Given the description of an element on the screen output the (x, y) to click on. 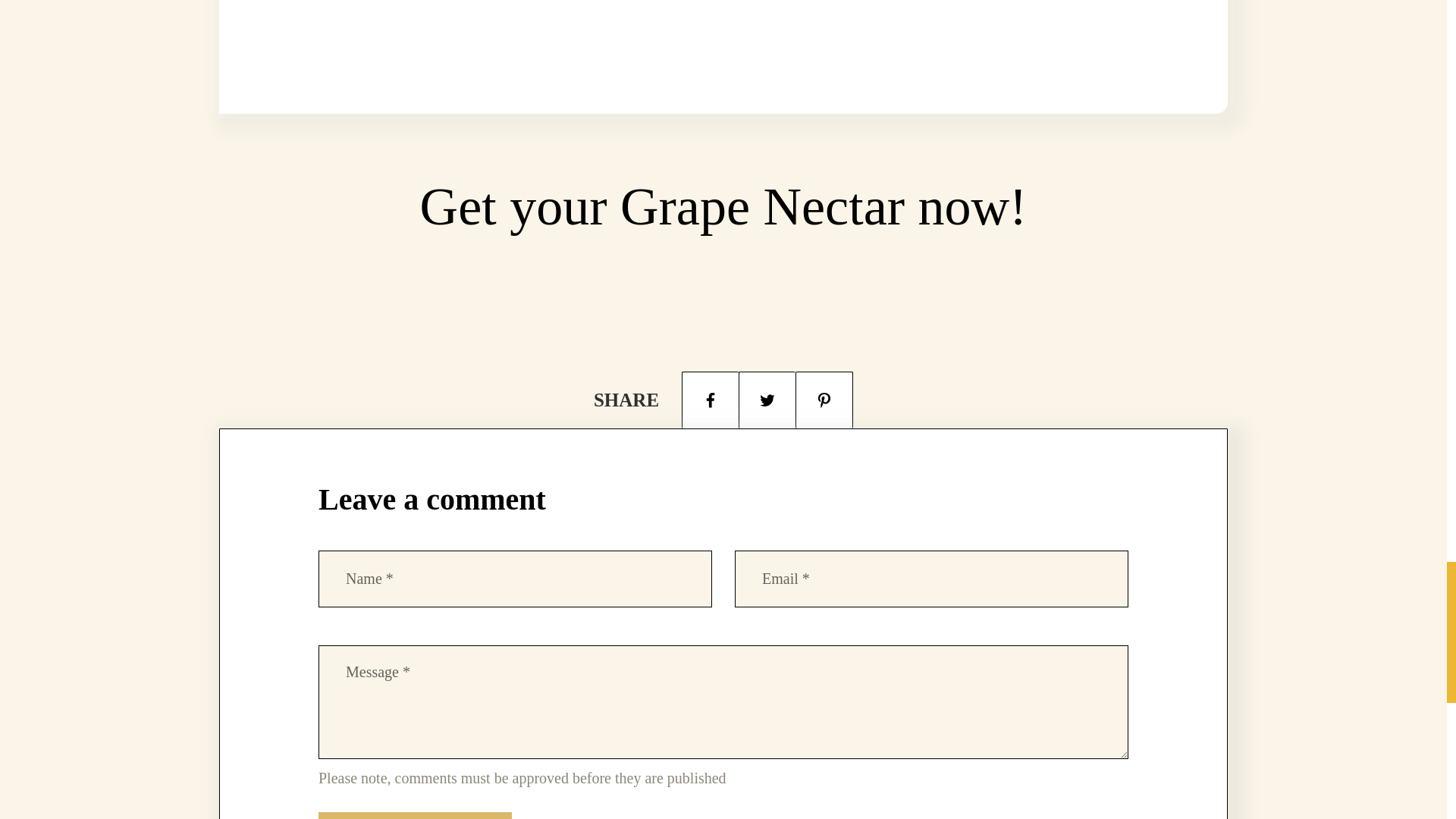
Post comment (415, 815)
